Given the description of an element on the screen output the (x, y) to click on. 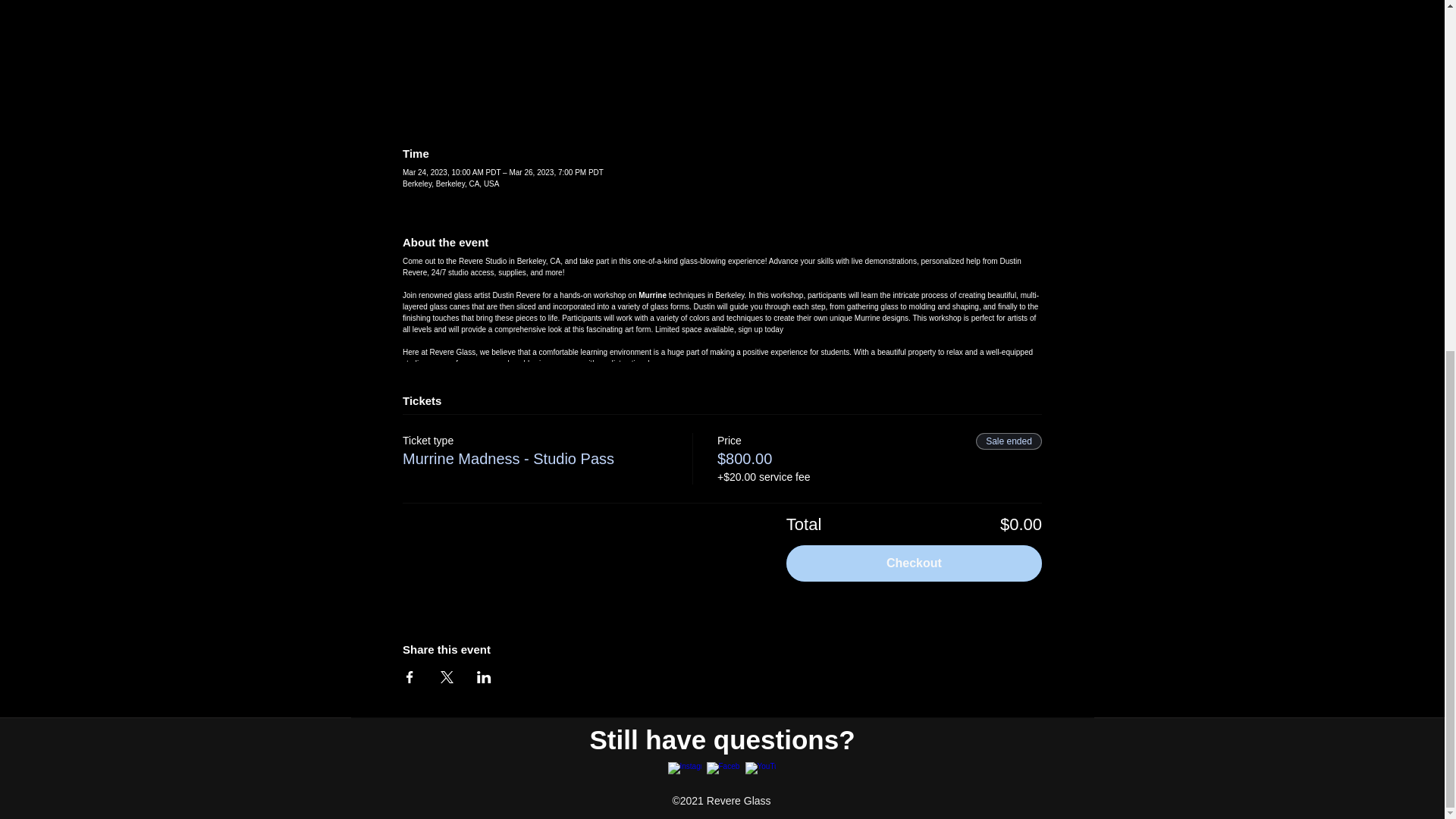
Checkout (914, 563)
